Given the description of an element on the screen output the (x, y) to click on. 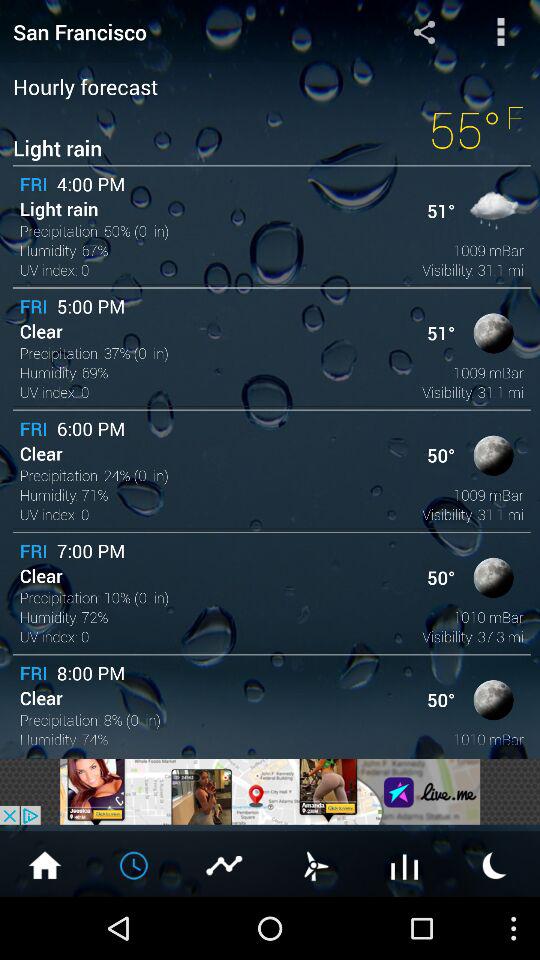
share the weather detail (424, 31)
